Given the description of an element on the screen output the (x, y) to click on. 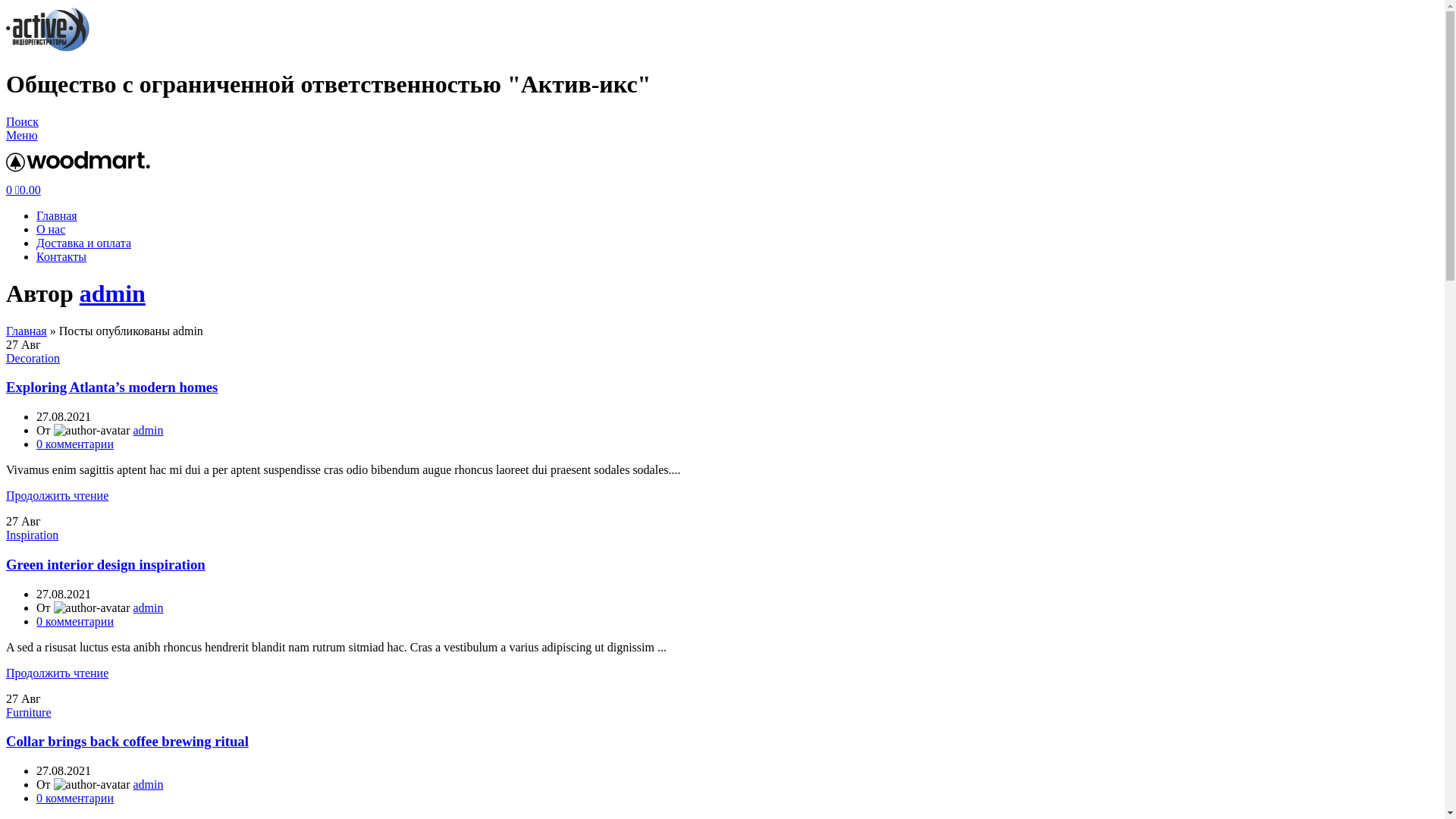
Furniture Element type: text (28, 712)
admin Element type: text (148, 429)
Green interior design inspiration Element type: text (105, 564)
Decoration Element type: text (32, 357)
Collar brings back coffee brewing ritual Element type: text (127, 741)
admin Element type: text (148, 607)
Inspiration Element type: text (32, 534)
admin Element type: text (148, 784)
admin Element type: text (112, 293)
